Given the description of an element on the screen output the (x, y) to click on. 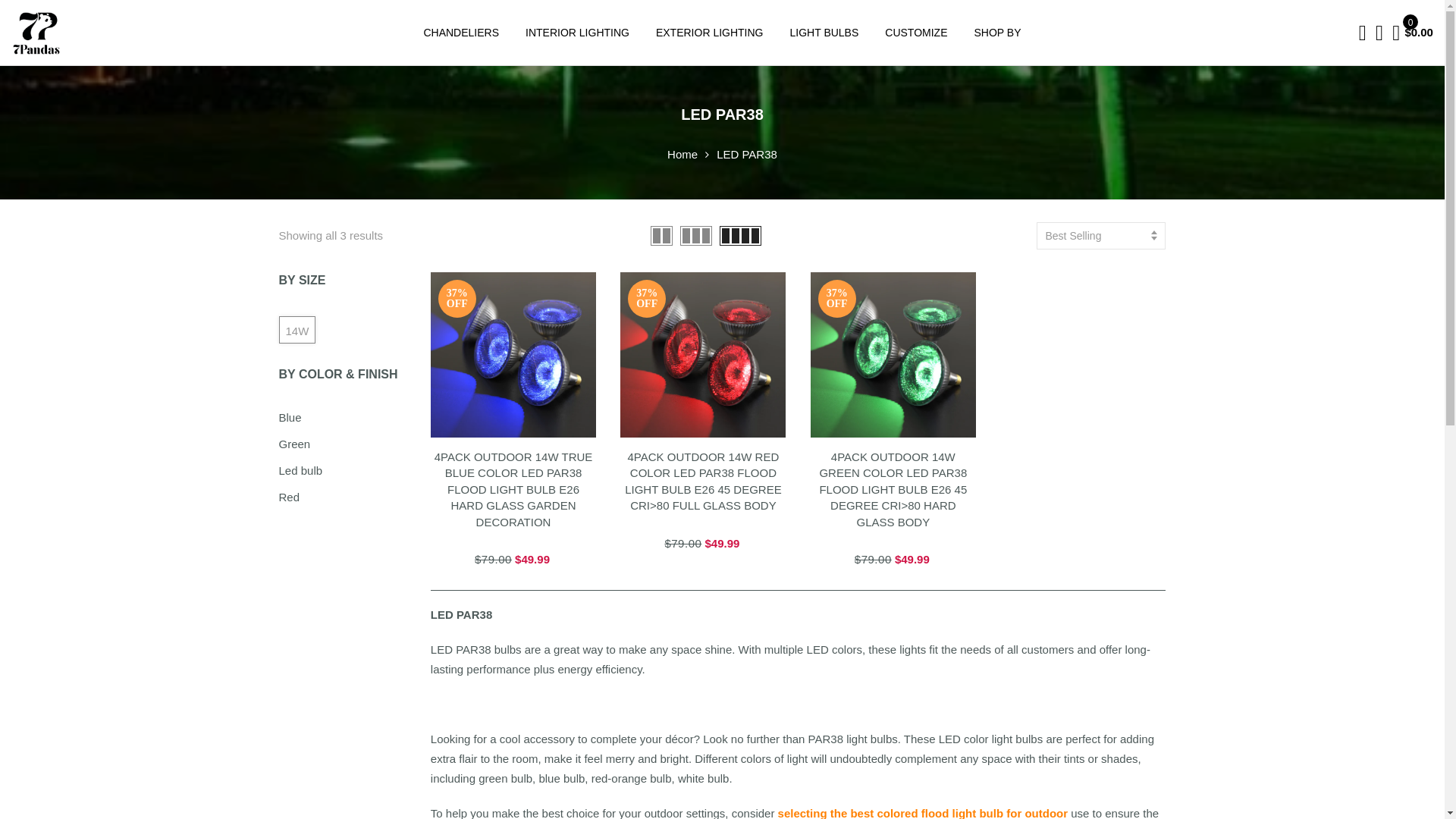
Narrow selection to products matching tag color blue (290, 417)
Narrow selection to products matching tag color led bulb (301, 470)
Home (681, 154)
Narrow selection to products matching tag size 14w (297, 329)
Narrow selection to products matching tag color red (289, 496)
Narrow selection to products matching tag color green (295, 443)
